Given the description of an element on the screen output the (x, y) to click on. 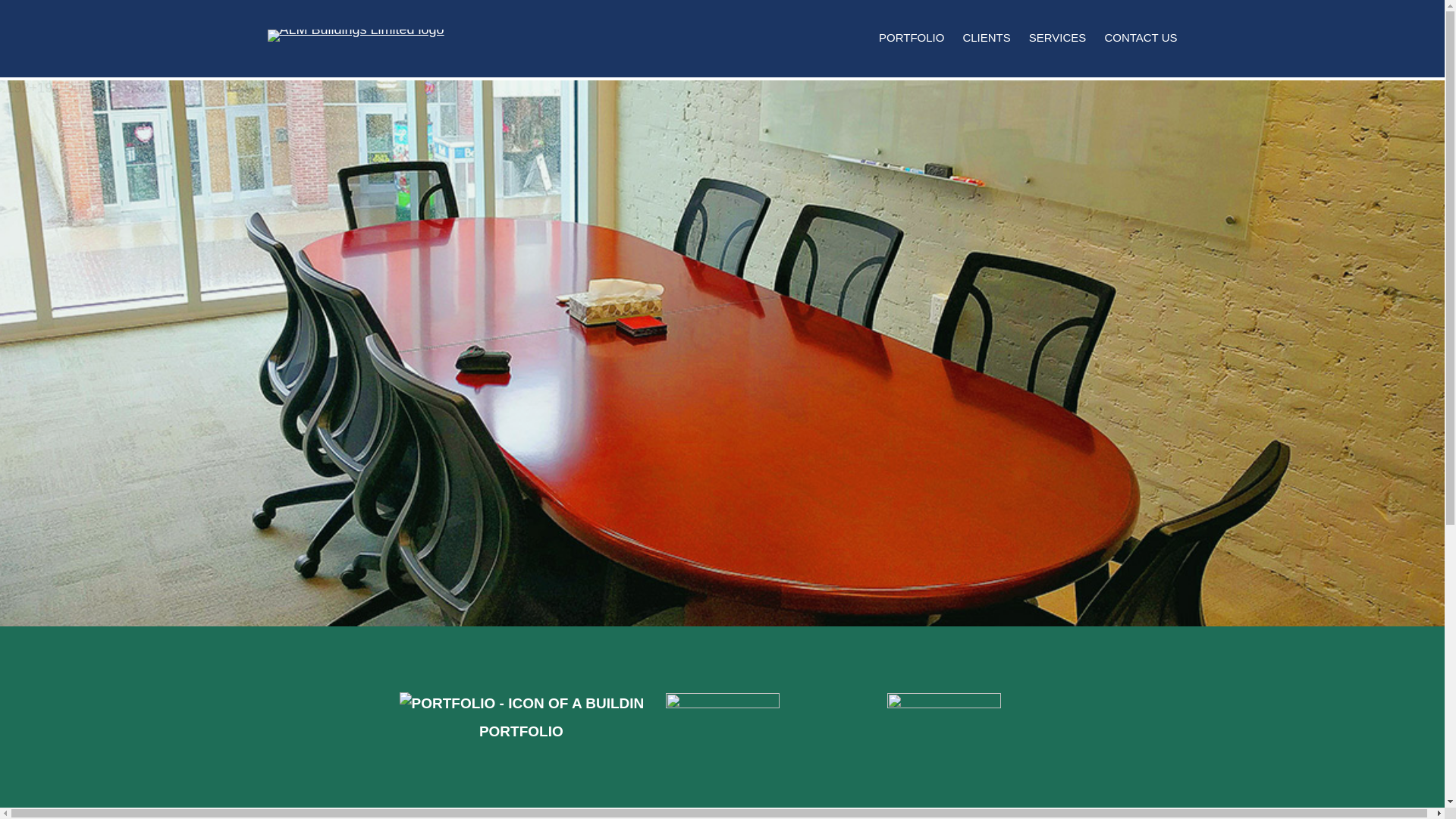
CLIENTS Element type: text (986, 37)
SERVICES Element type: text (1057, 37)
CONTACT US Element type: text (1140, 37)
PORTFOLIO Element type: text (911, 37)
PORTFOLIO Element type: text (521, 731)
